Given the description of an element on the screen output the (x, y) to click on. 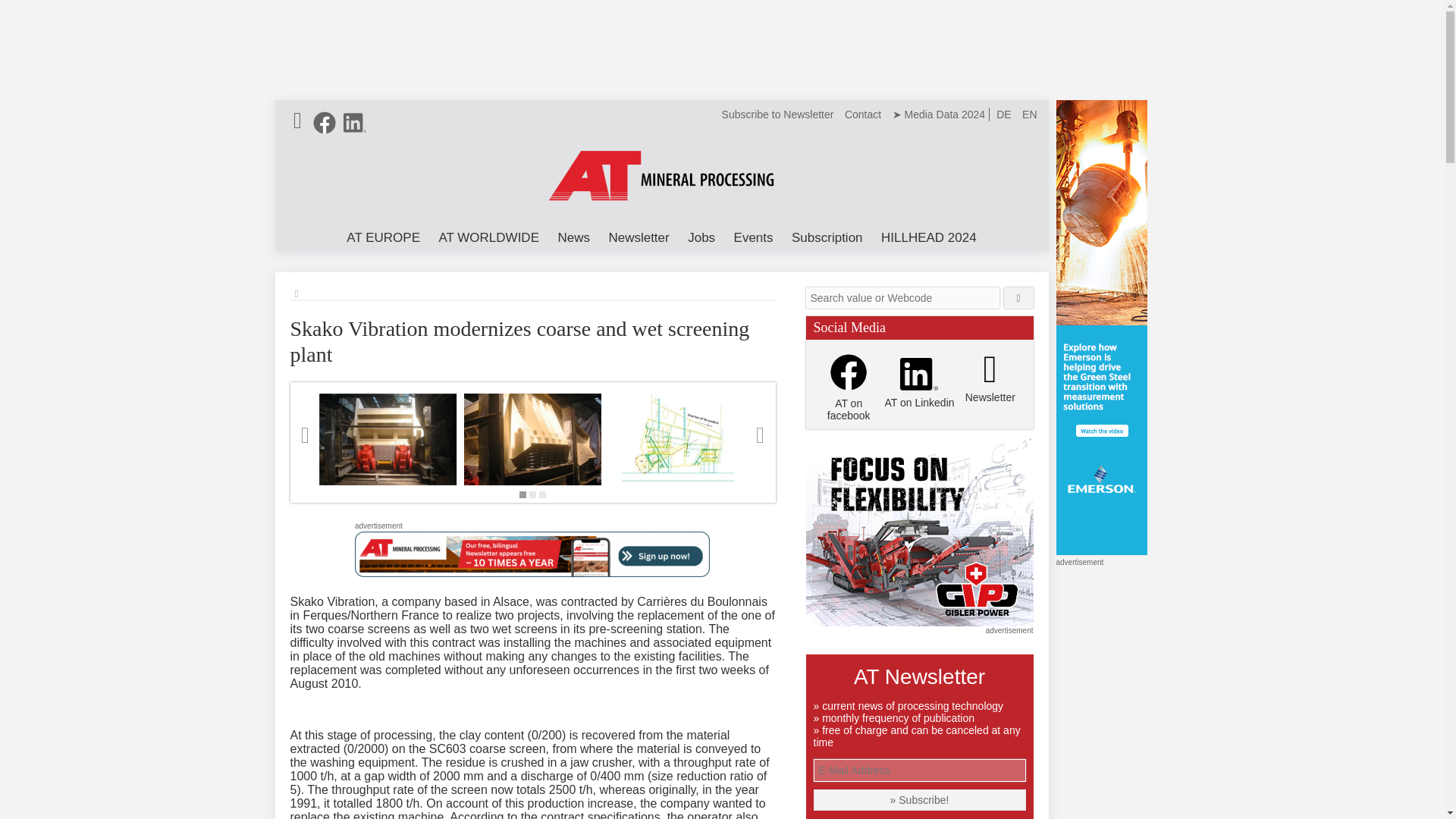
Jobs (700, 238)
HILLHEAD 2024 (928, 238)
Events (753, 238)
Search value or Webcode (901, 297)
AT WORLDWIDE (488, 238)
AT EUROPE (383, 238)
News (573, 238)
Suchen (1018, 297)
Subscription (827, 238)
Subscribe to Newsletter (777, 114)
Newsletter (638, 238)
Contact (863, 114)
DE (1003, 114)
EN (1029, 114)
